Given the description of an element on the screen output the (x, y) to click on. 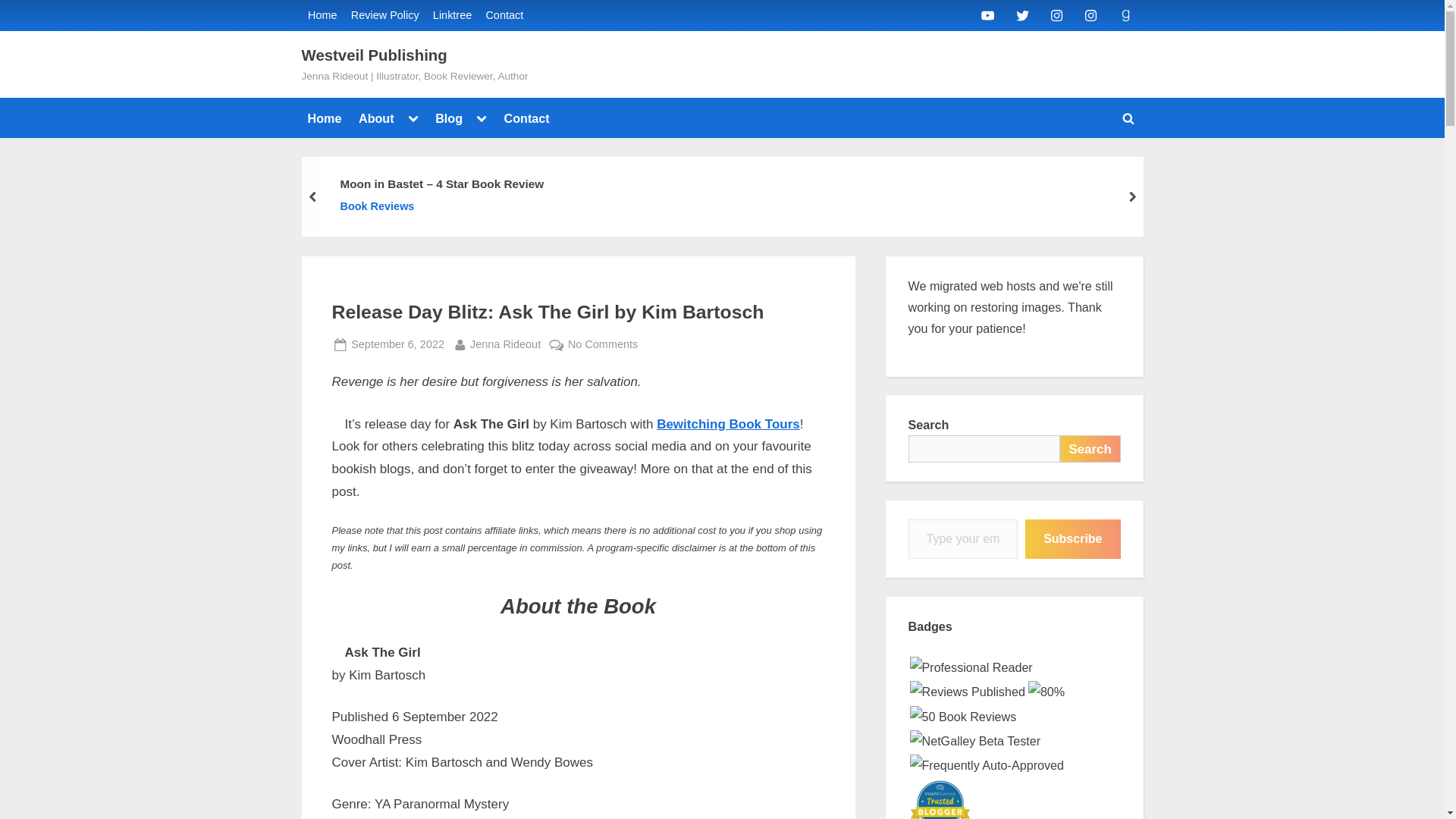
Menu Item (1090, 14)
Contact (503, 15)
Toggle sub-menu (481, 117)
Reviews Published (967, 690)
Menu Item (986, 14)
Toggle search form (1128, 118)
Book Reviews (441, 207)
Westveil Publishing (373, 54)
Linktree (451, 15)
Blog (448, 118)
